Given the description of an element on the screen output the (x, y) to click on. 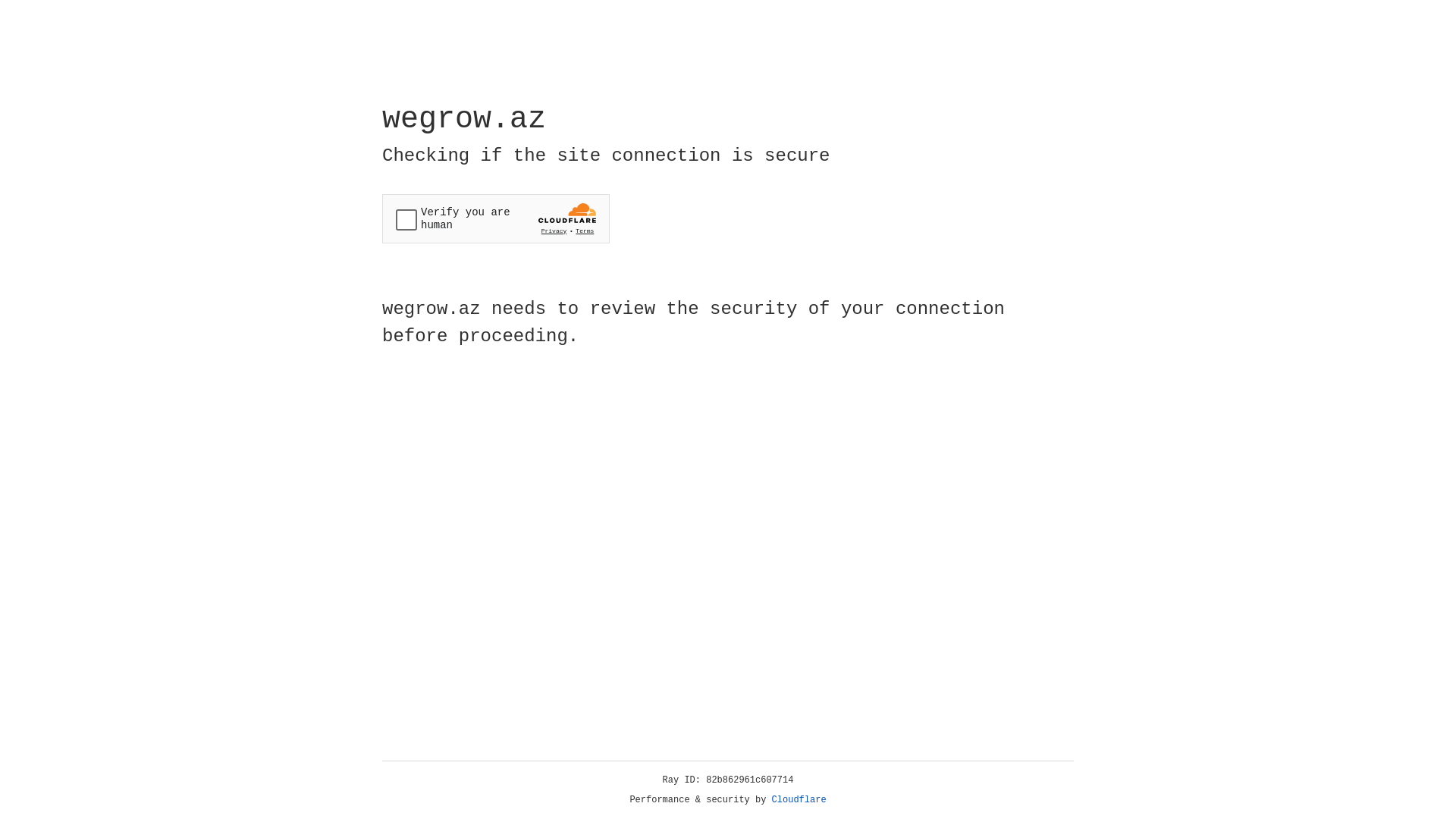
Cloudflare Element type: text (798, 799)
Widget containing a Cloudflare security challenge Element type: hover (495, 218)
